Given the description of an element on the screen output the (x, y) to click on. 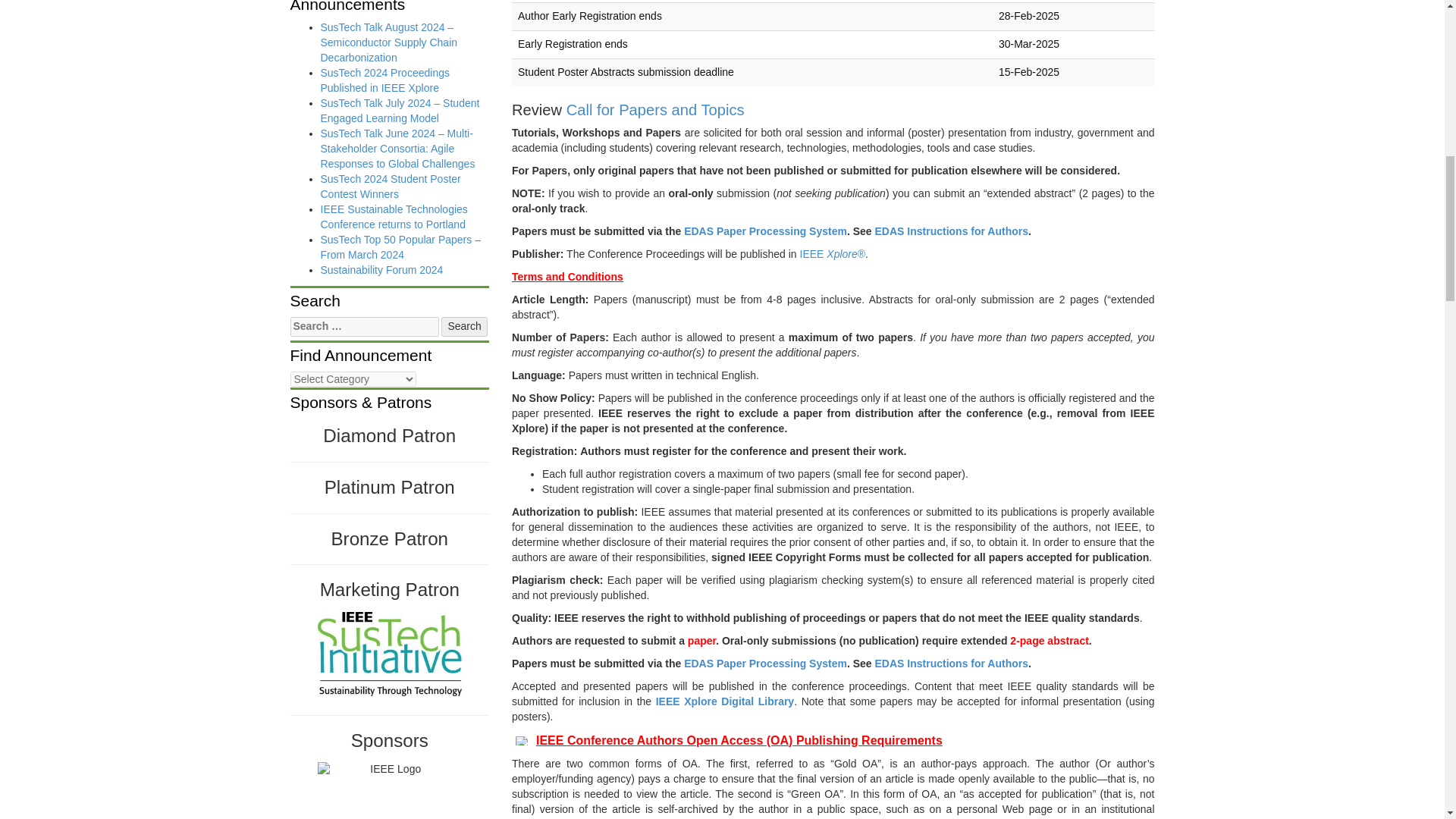
IEEE Xplore Digital Library (724, 701)
Search (463, 326)
Search (463, 326)
